Given the description of an element on the screen output the (x, y) to click on. 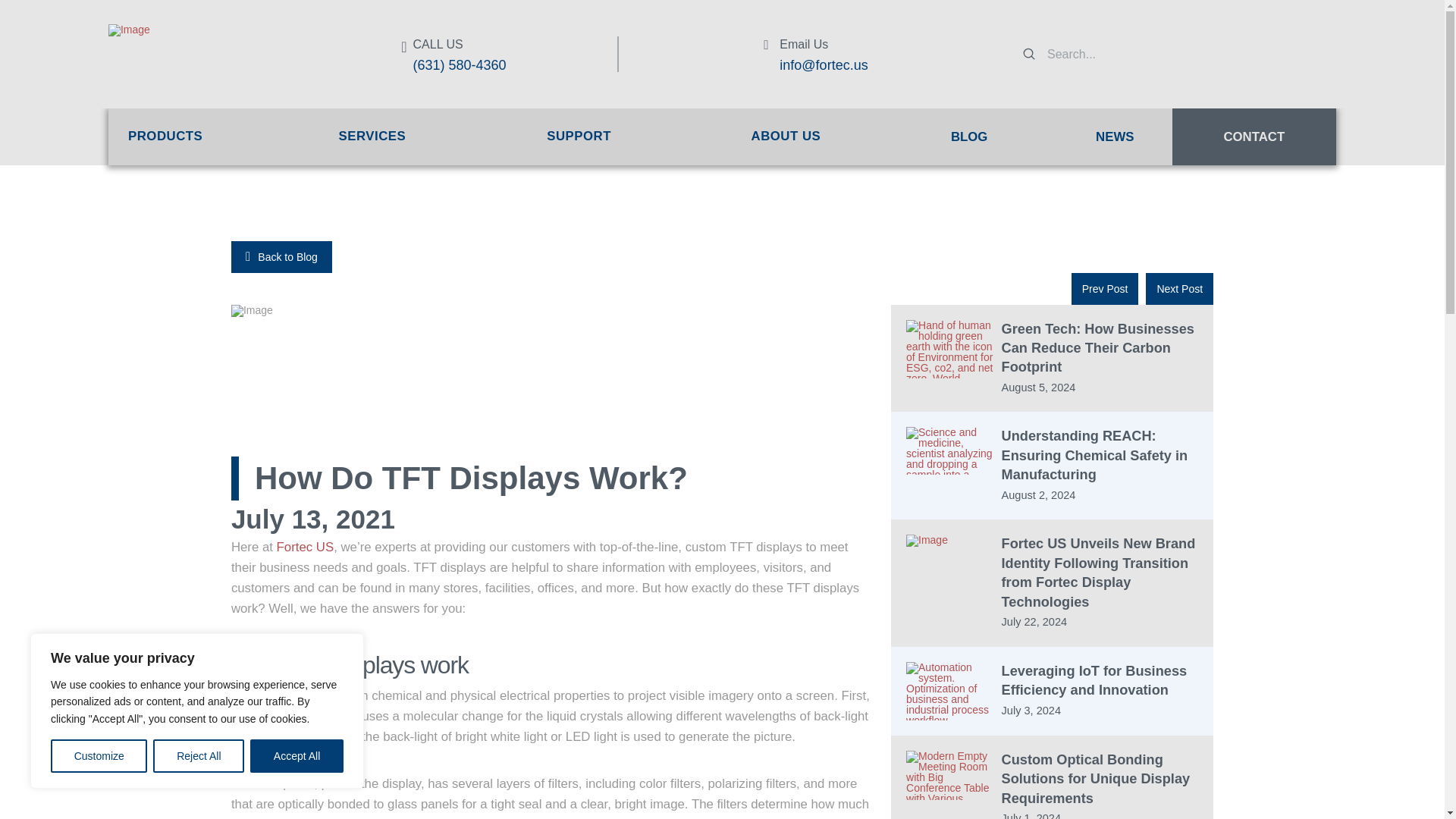
Next Post (1178, 288)
Submit (1029, 52)
BLOG (969, 136)
Customize (98, 756)
Back to Blog (281, 256)
Prev Post (1104, 288)
NEWS (1134, 136)
Fortec US (305, 546)
CONTACT (1254, 136)
Reject All (198, 756)
